Given the description of an element on the screen output the (x, y) to click on. 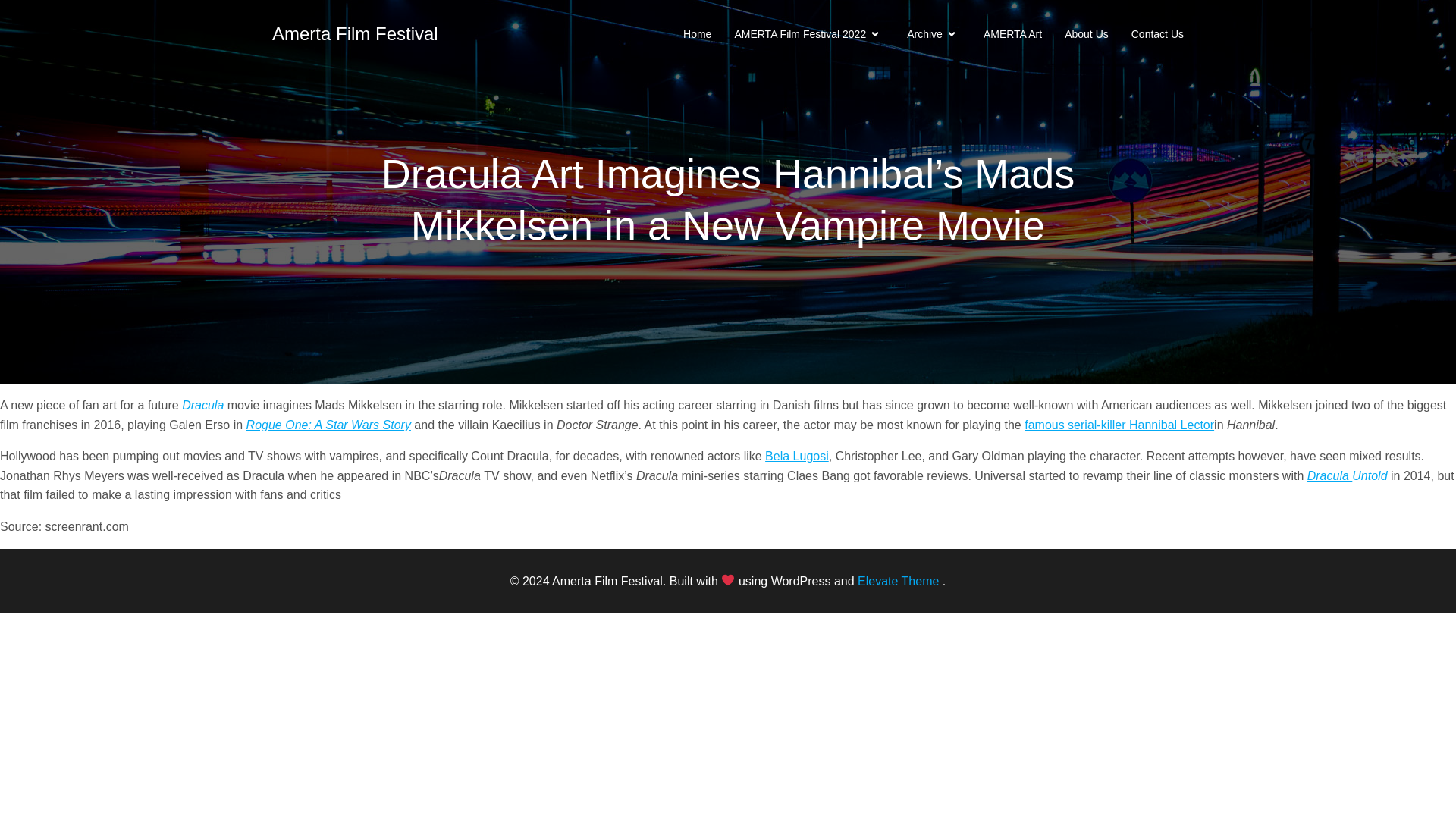
Archive (933, 33)
Bela Lugosi (796, 455)
AMERTA Art (1013, 33)
Rogue One: A Star Wars Story (328, 424)
Dracula (203, 404)
About Us (1086, 33)
Contact Us (1157, 33)
famous serial-killer Hannibal Lector (1119, 424)
Elevate Theme (898, 581)
AMERTA Film Festival 2022 (808, 33)
Dracula  (1329, 475)
Untold (1369, 475)
Home (696, 33)
Amerta Film Festival (355, 33)
